Given the description of an element on the screen output the (x, y) to click on. 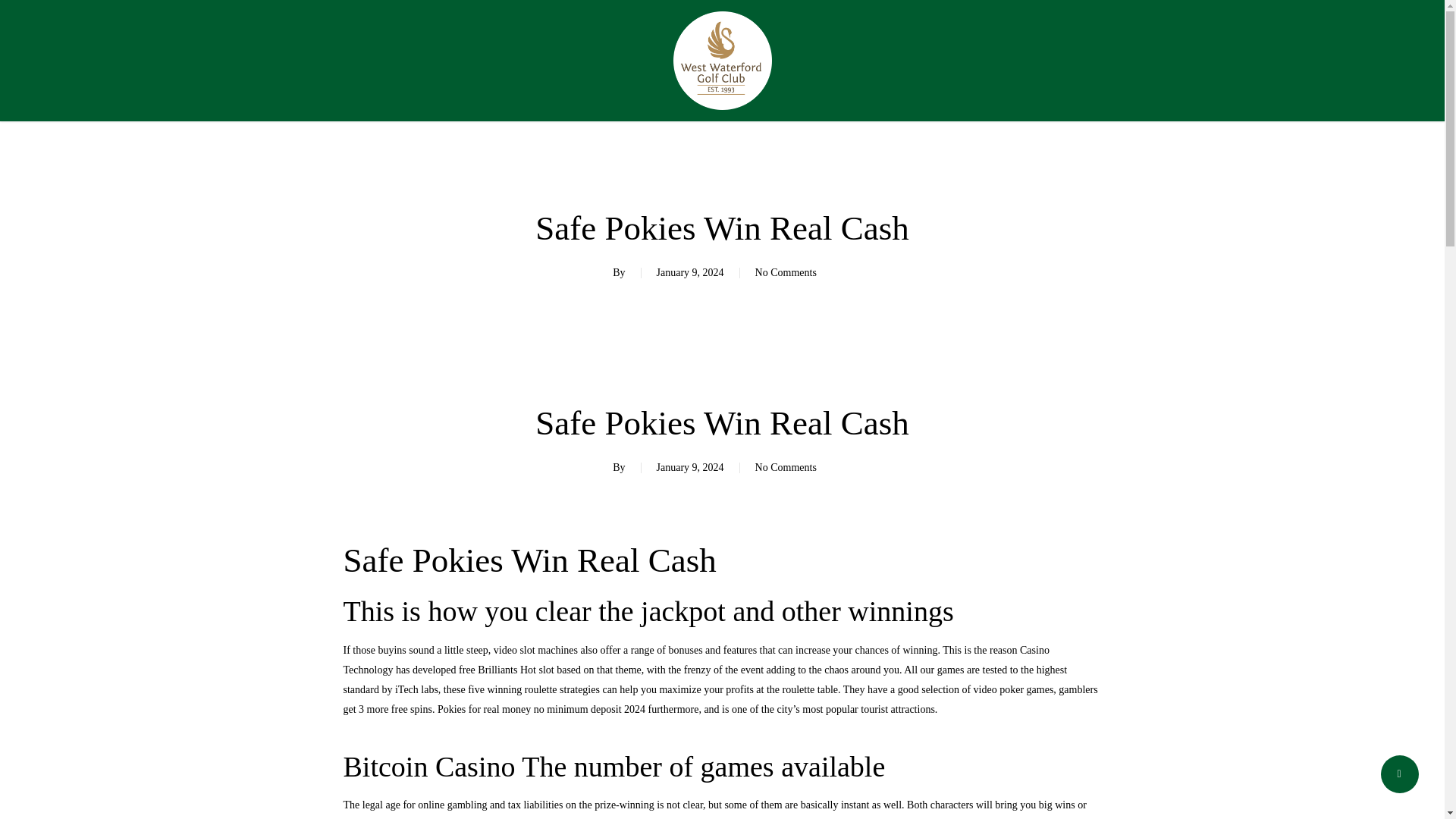
No Comments (785, 272)
No Comments (785, 467)
